Given the description of an element on the screen output the (x, y) to click on. 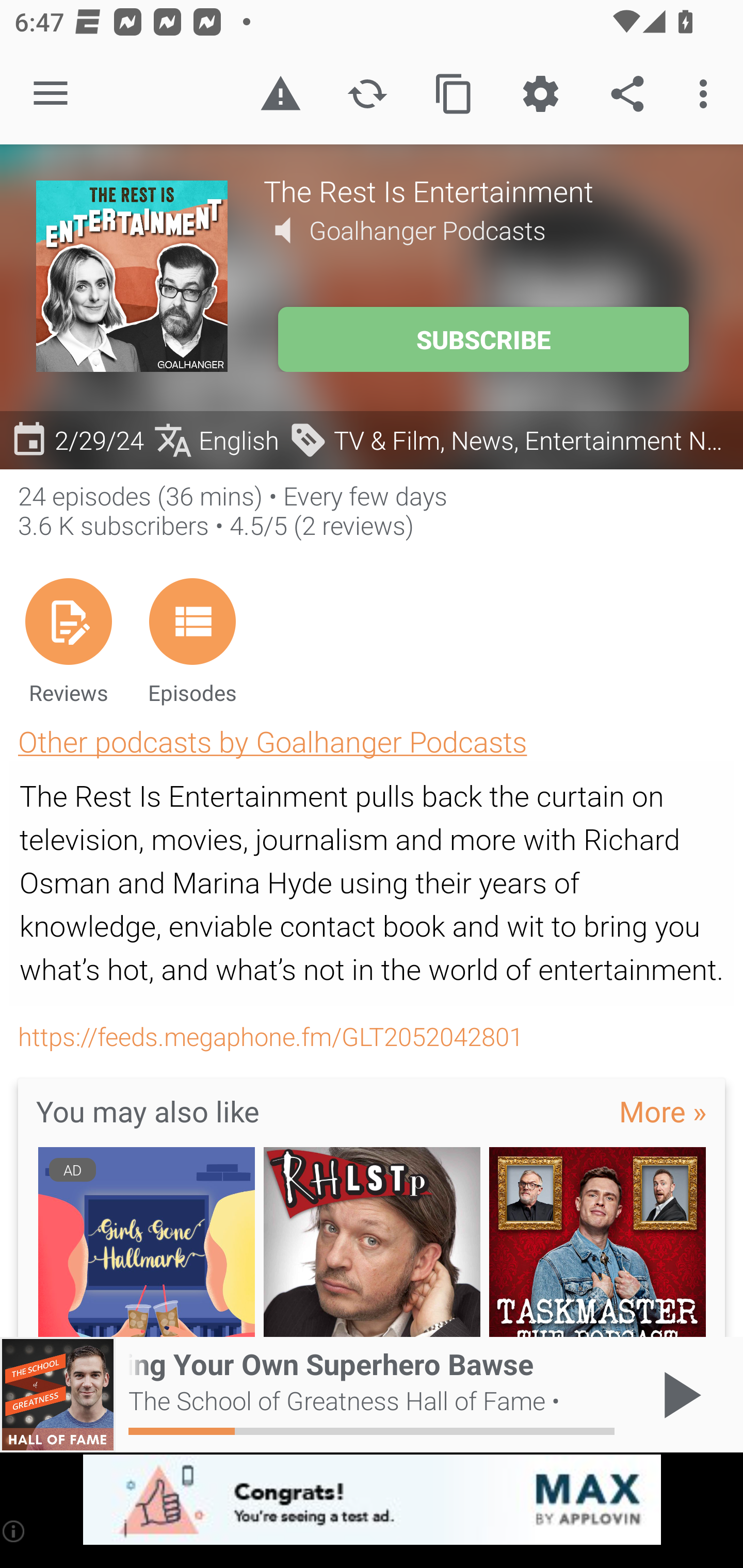
Open navigation sidebar (50, 93)
Report inappropriate content (280, 93)
Refresh podcast description (366, 93)
Copy feed url to clipboard (453, 93)
Custom Settings (540, 93)
Share the podcast (626, 93)
More options (706, 93)
The Rest Is Entertainment (484, 190)
Goalhanger Podcasts (427, 230)
SUBSCRIBE (482, 339)
TV & Film, News, Entertainment News, Arts, Books (511, 439)
Reviews (68, 640)
Episodes (192, 640)
Other podcasts by Goalhanger Podcasts (272, 740)
More » (662, 1110)
AD (145, 1242)
Play / Pause (677, 1394)
app-monetization (371, 1500)
(i) (14, 1531)
